Given the description of an element on the screen output the (x, y) to click on. 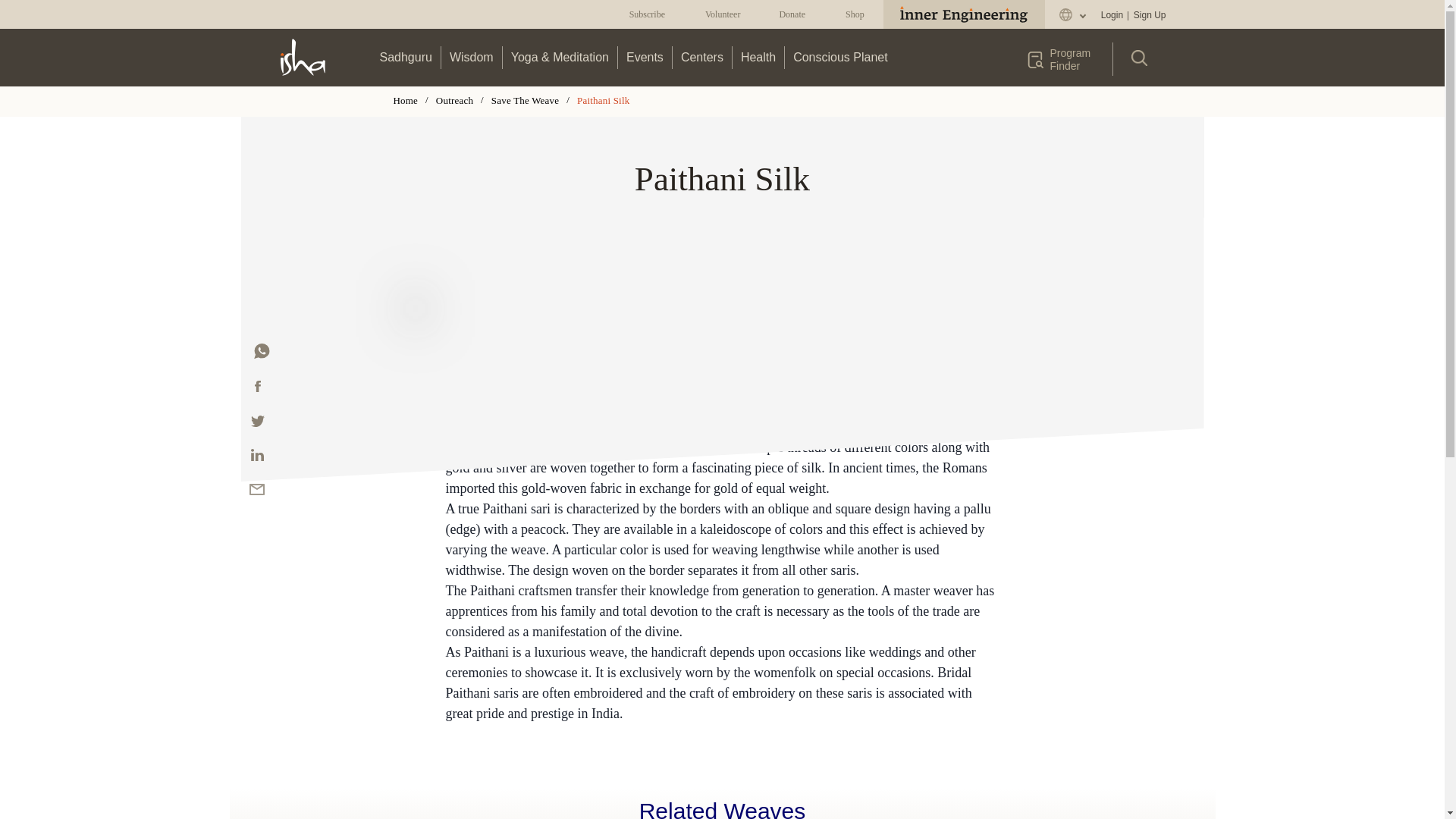
Sign Up (1149, 15)
Login (1112, 15)
Sadhguru (406, 56)
Wisdom (471, 56)
